Given the description of an element on the screen output the (x, y) to click on. 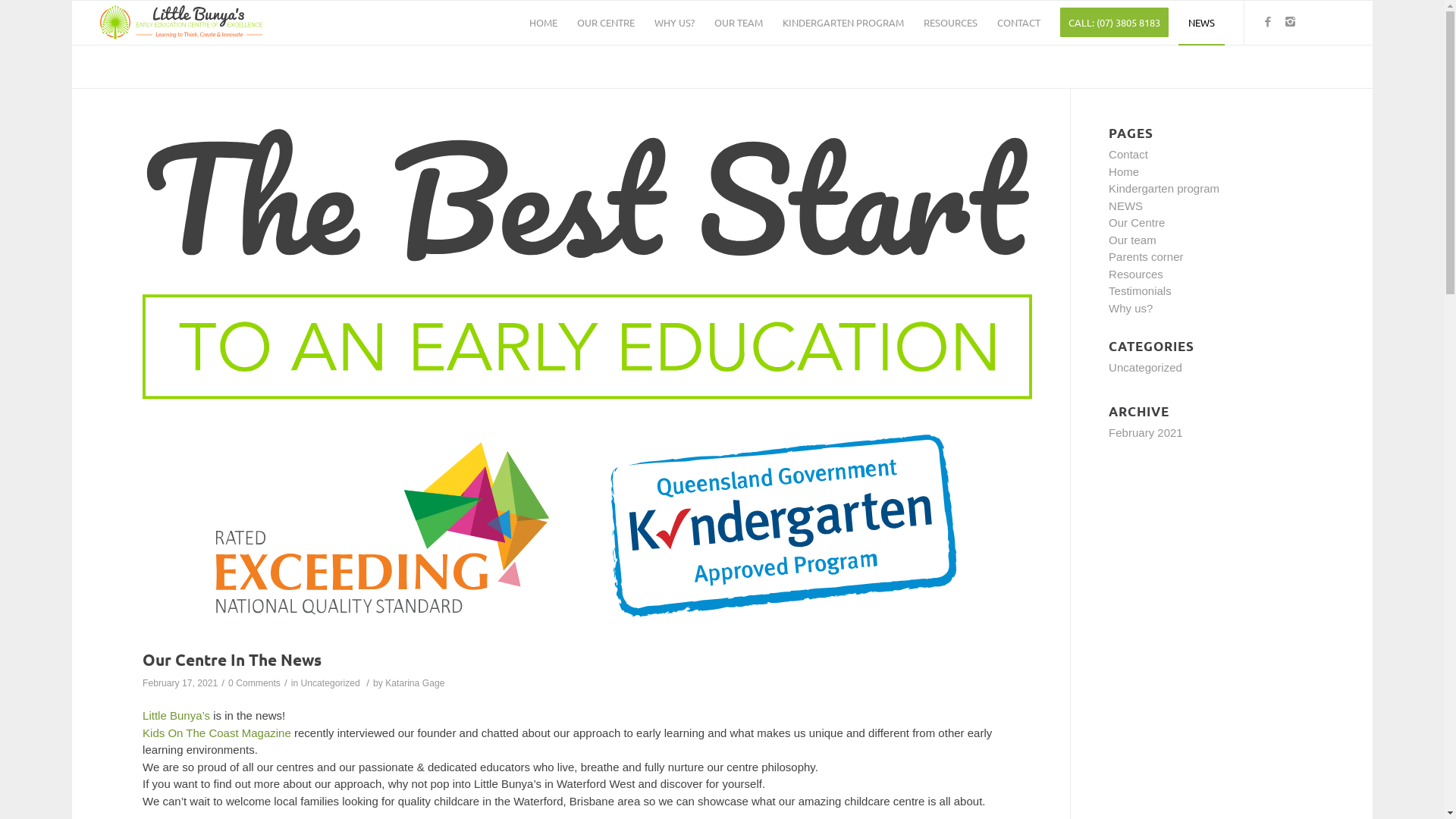
OUR TEAM Element type: text (738, 22)
CALL: (07) 3805 8183 Element type: text (1114, 22)
Testimonials Element type: text (1139, 290)
WHY US? Element type: text (674, 22)
Parents corner Element type: text (1145, 256)
February 2021 Element type: text (1145, 432)
Kindergarten program Element type: text (1163, 188)
Home Element type: text (1123, 171)
Uncategorized Element type: text (330, 682)
Facebook Element type: hover (1267, 21)
Instagram Element type: hover (1290, 21)
0 Comments Element type: text (254, 682)
Our Centre Element type: text (1136, 222)
Kids On The Coast Magazine Element type: text (216, 732)
Contact Element type: text (1128, 153)
Uncategorized Element type: text (1145, 366)
Our Centre In The News Element type: hover (587, 383)
HOME Element type: text (543, 22)
Why us? Element type: text (1130, 307)
CONTACT Element type: text (1018, 22)
Our team Element type: text (1132, 239)
Resources Element type: text (1135, 273)
OUR CENTRE Element type: text (605, 22)
NEWS Element type: text (1201, 22)
Katarina Gage Element type: text (414, 682)
RESOURCES Element type: text (950, 22)
NEWS Element type: text (1125, 205)
KINDERGARTEN PROGRAM Element type: text (842, 22)
Our Centre In The News Element type: text (231, 659)
